Given the description of an element on the screen output the (x, y) to click on. 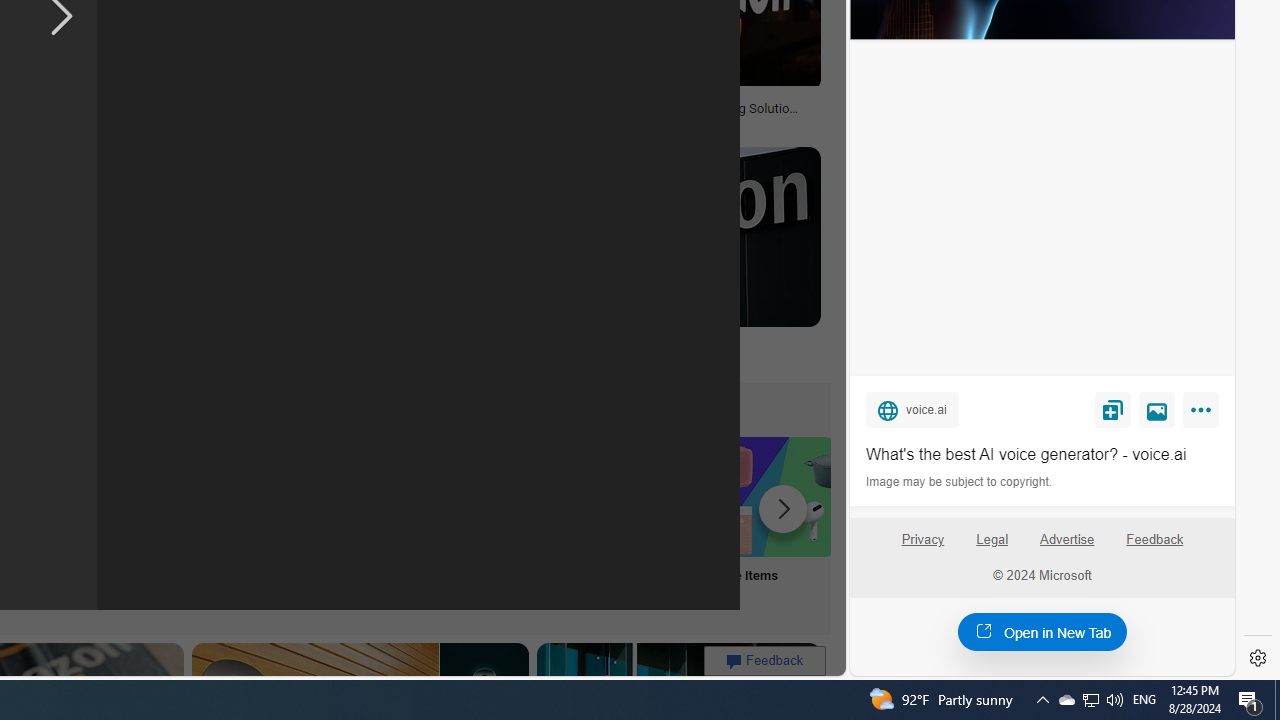
voice.ai (912, 409)
mobilemarketingmagazine.com (574, 121)
Amazon Visa Card Login (643, 496)
Prime Label (511, 521)
Amazon Prime Label (511, 496)
cordcuttersnews.com (331, 359)
Amazonprotothema.grSave (662, 260)
Amazon Online Shopping Homepage (248, 496)
Amazon Mini TV Mini TV (116, 521)
Amazon Prime Shopping Online (380, 496)
Legal (992, 547)
